Given the description of an element on the screen output the (x, y) to click on. 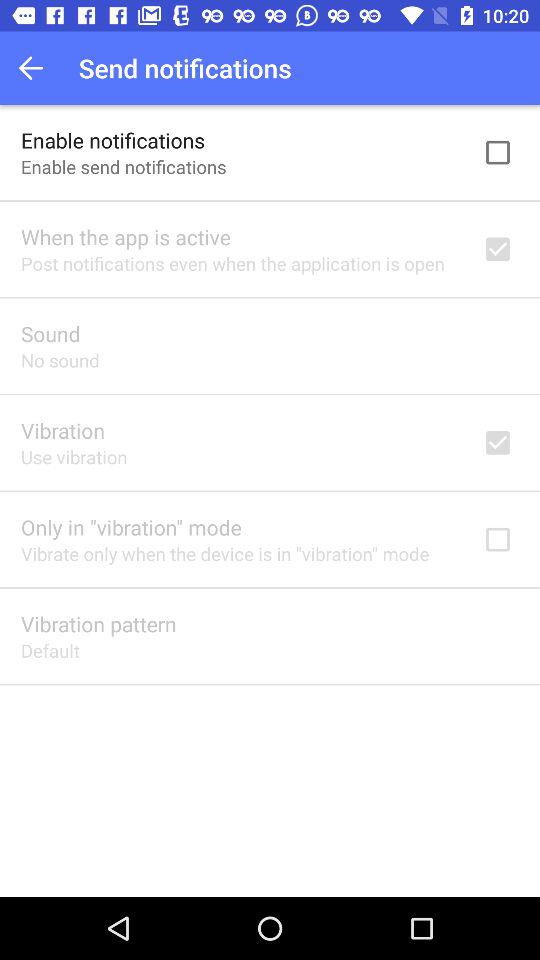
open the item at the bottom left corner (50, 650)
